Given the description of an element on the screen output the (x, y) to click on. 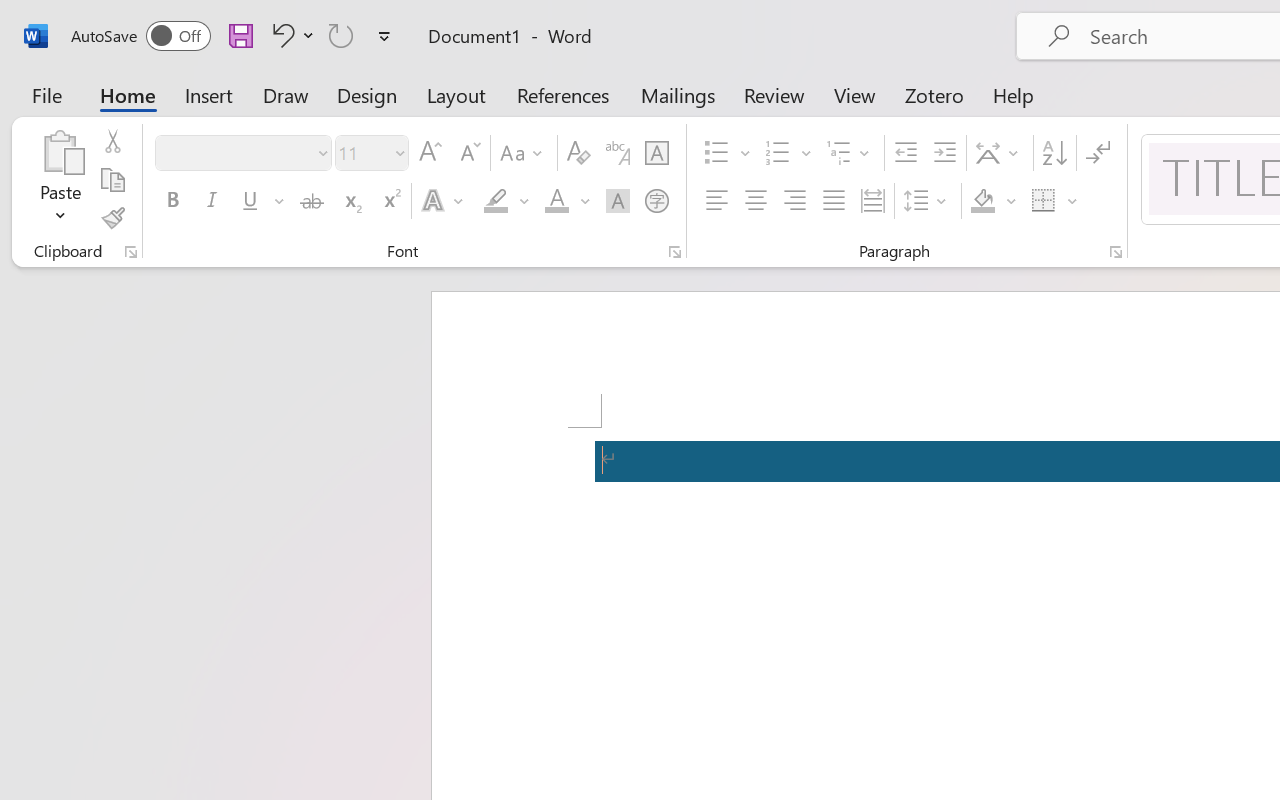
Undo Apply Quick Style Set (290, 35)
